Given the description of an element on the screen output the (x, y) to click on. 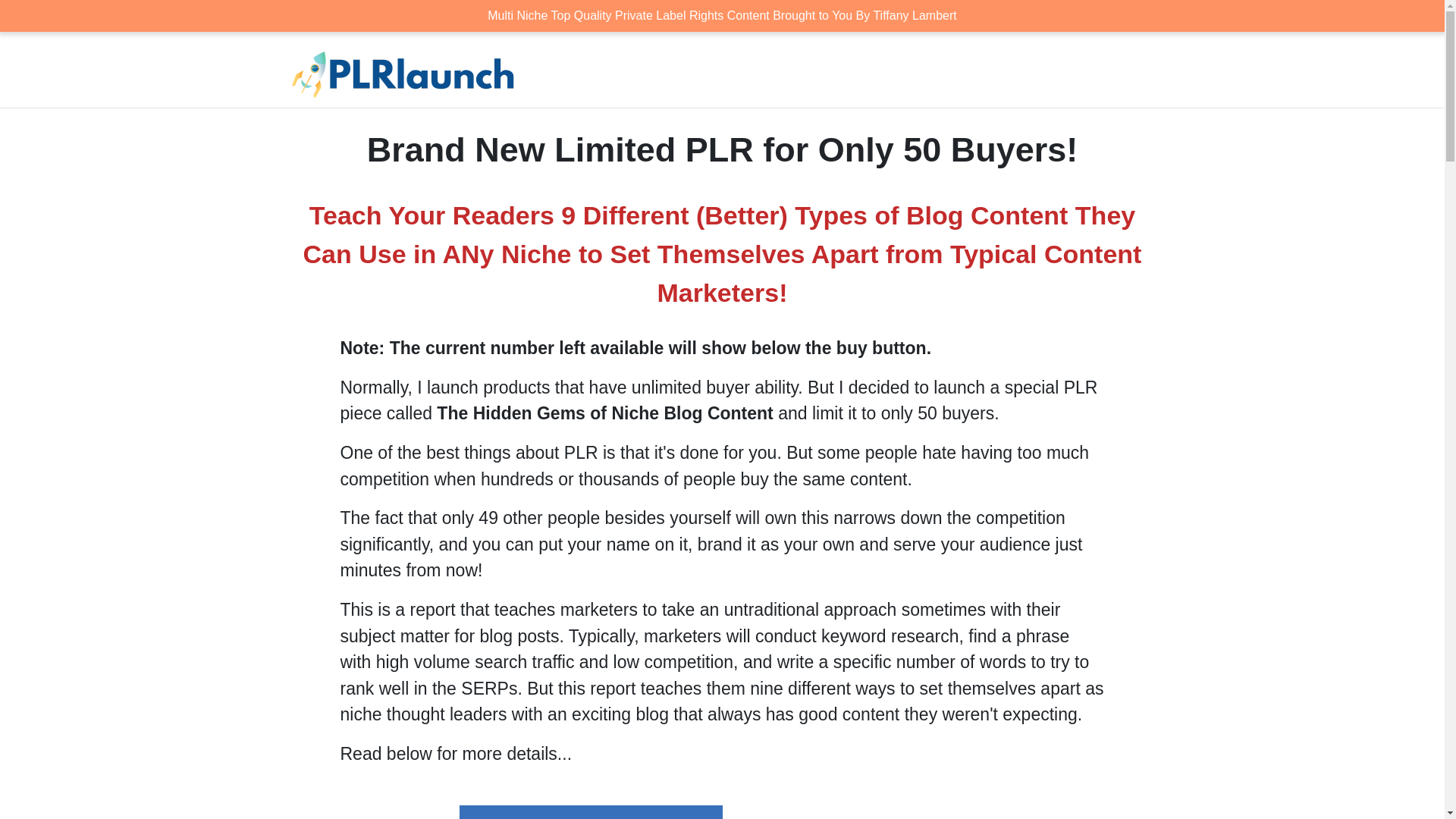
PLR LAUNCH Tiffany Lambert (402, 77)
